Given the description of an element on the screen output the (x, y) to click on. 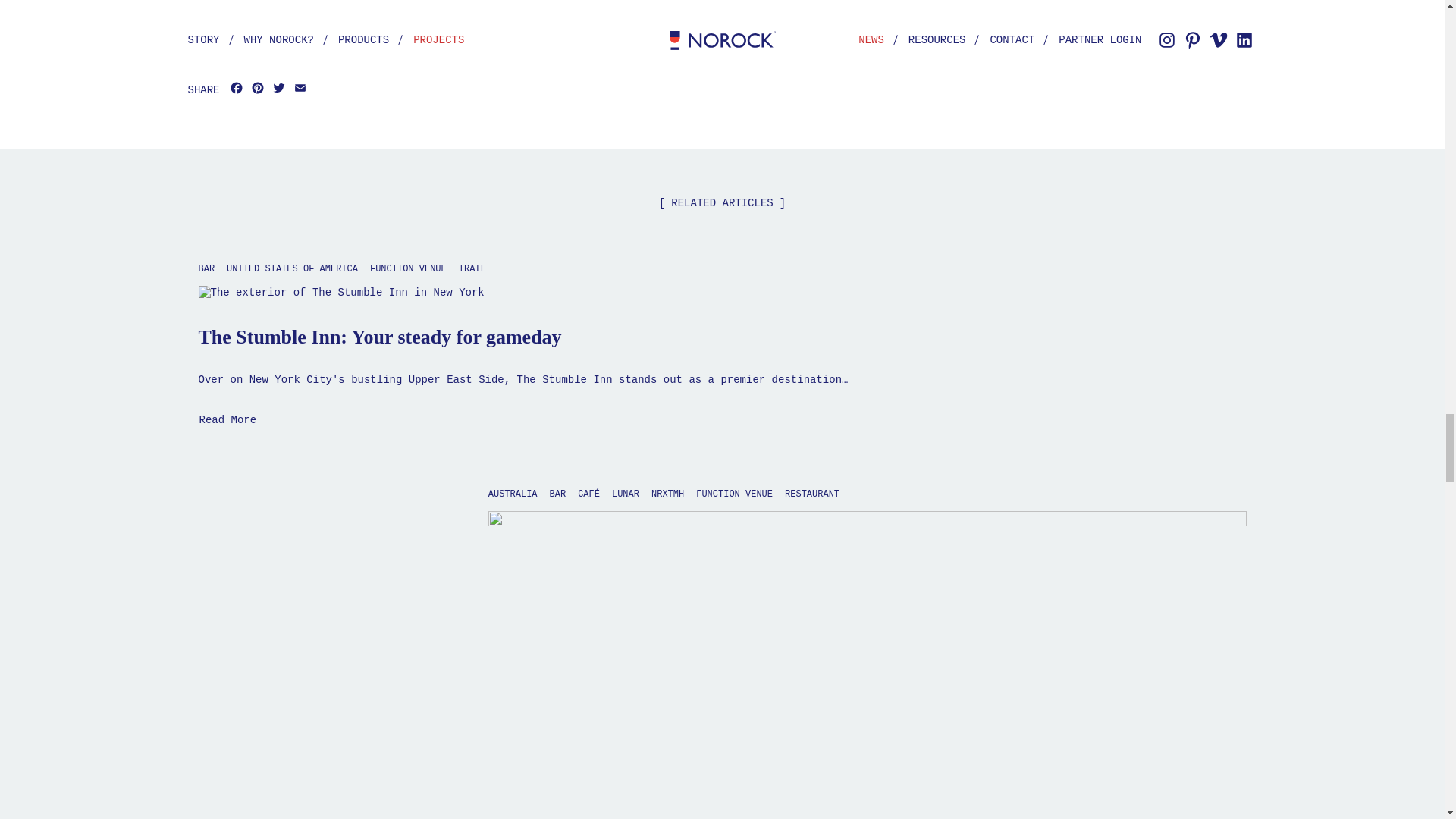
Twitter (278, 89)
Read more: The Stumble Inn: Your steady for gameday (227, 423)
Facebook (236, 89)
Email (300, 89)
Pinterest (257, 89)
